Given the description of an element on the screen output the (x, y) to click on. 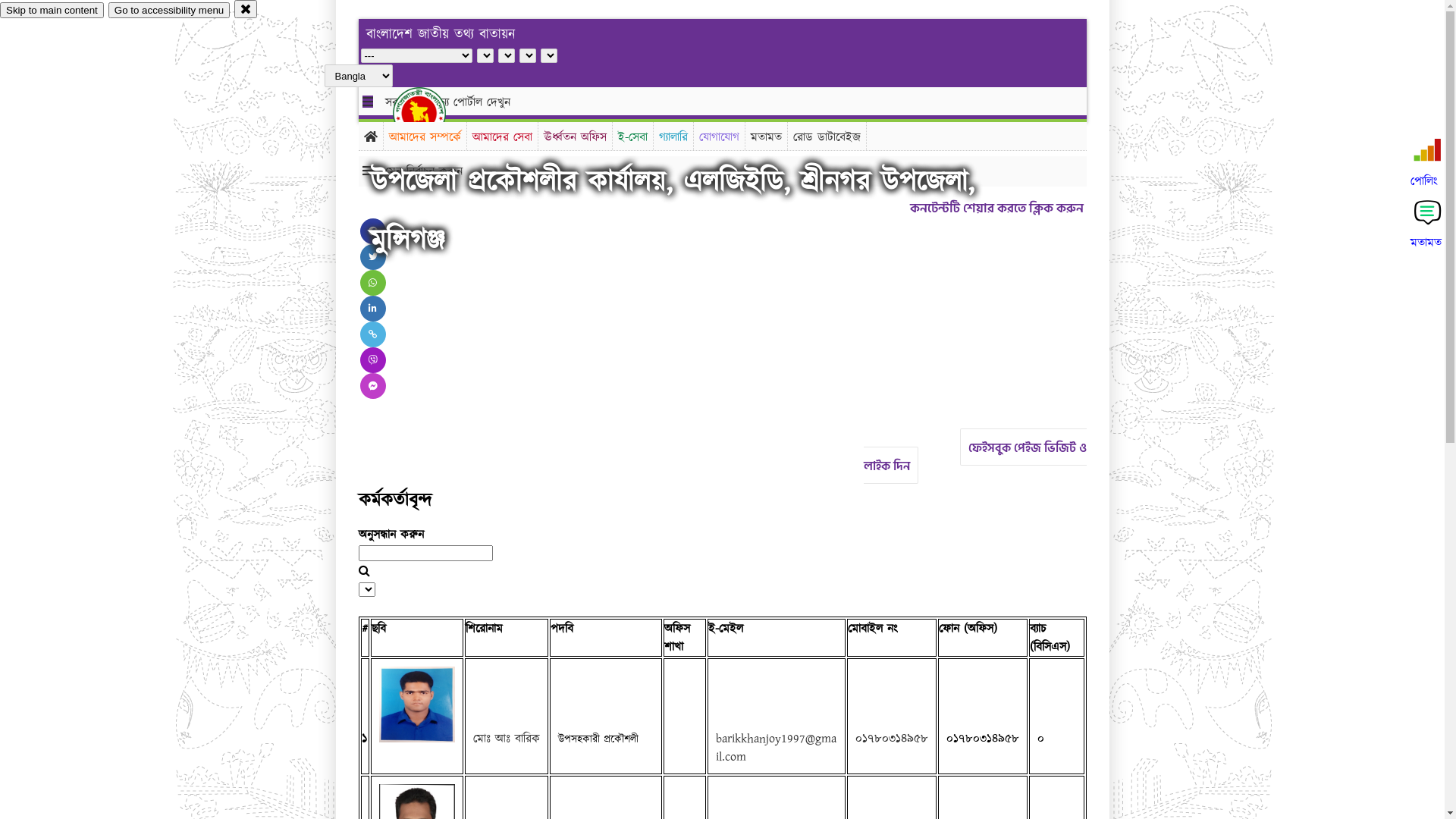
Skip to main content Element type: text (51, 10)

                
             Element type: hover (431, 112)
Go to accessibility menu Element type: text (168, 10)
close Element type: hover (245, 9)
barikkhanjoy1997@gmail.com Element type: text (775, 747)
